Given the description of an element on the screen output the (x, y) to click on. 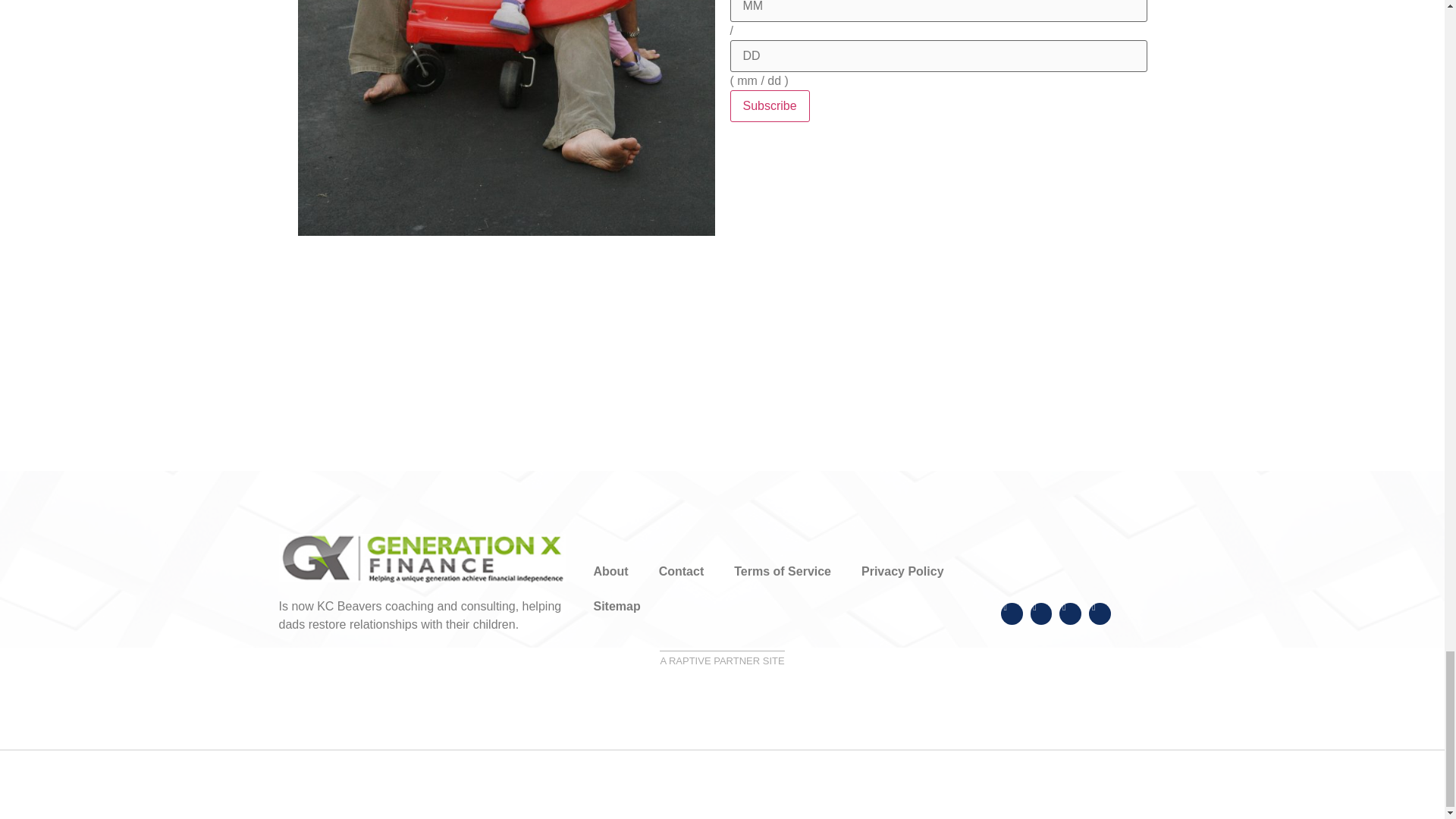
Privacy Policy (902, 571)
Sitemap (616, 606)
Subscribe (769, 106)
Contact (681, 571)
About (610, 571)
Subscribe (769, 106)
Terms of Service (782, 571)
